Given the description of an element on the screen output the (x, y) to click on. 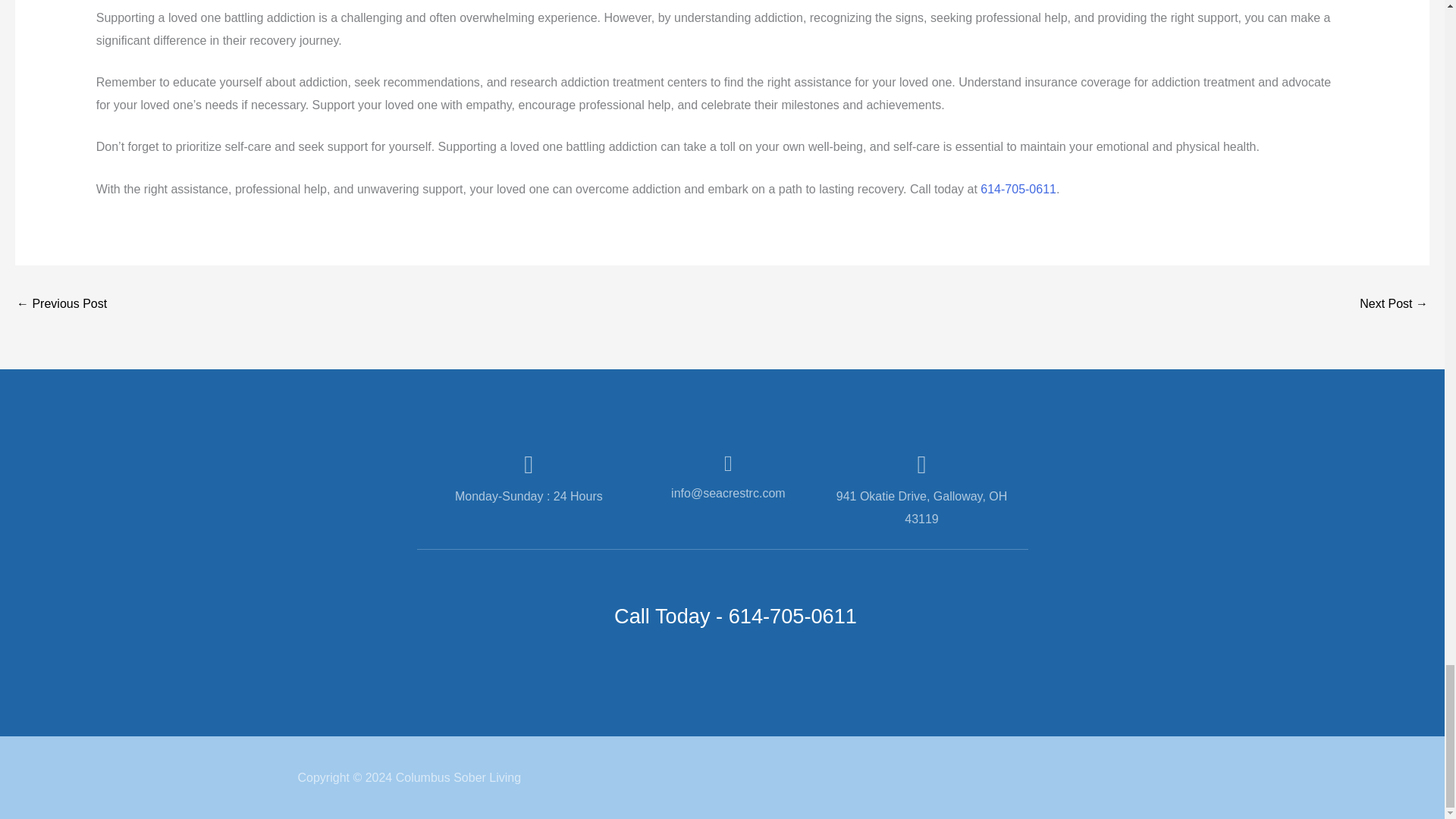
614-705-0611 (1018, 188)
Call Today - 614-705-0611 (735, 616)
Recognizing Signs Indicating Readiness for Rehab (1393, 305)
Identifying the Most Addictive Substances (61, 305)
